Given the description of an element on the screen output the (x, y) to click on. 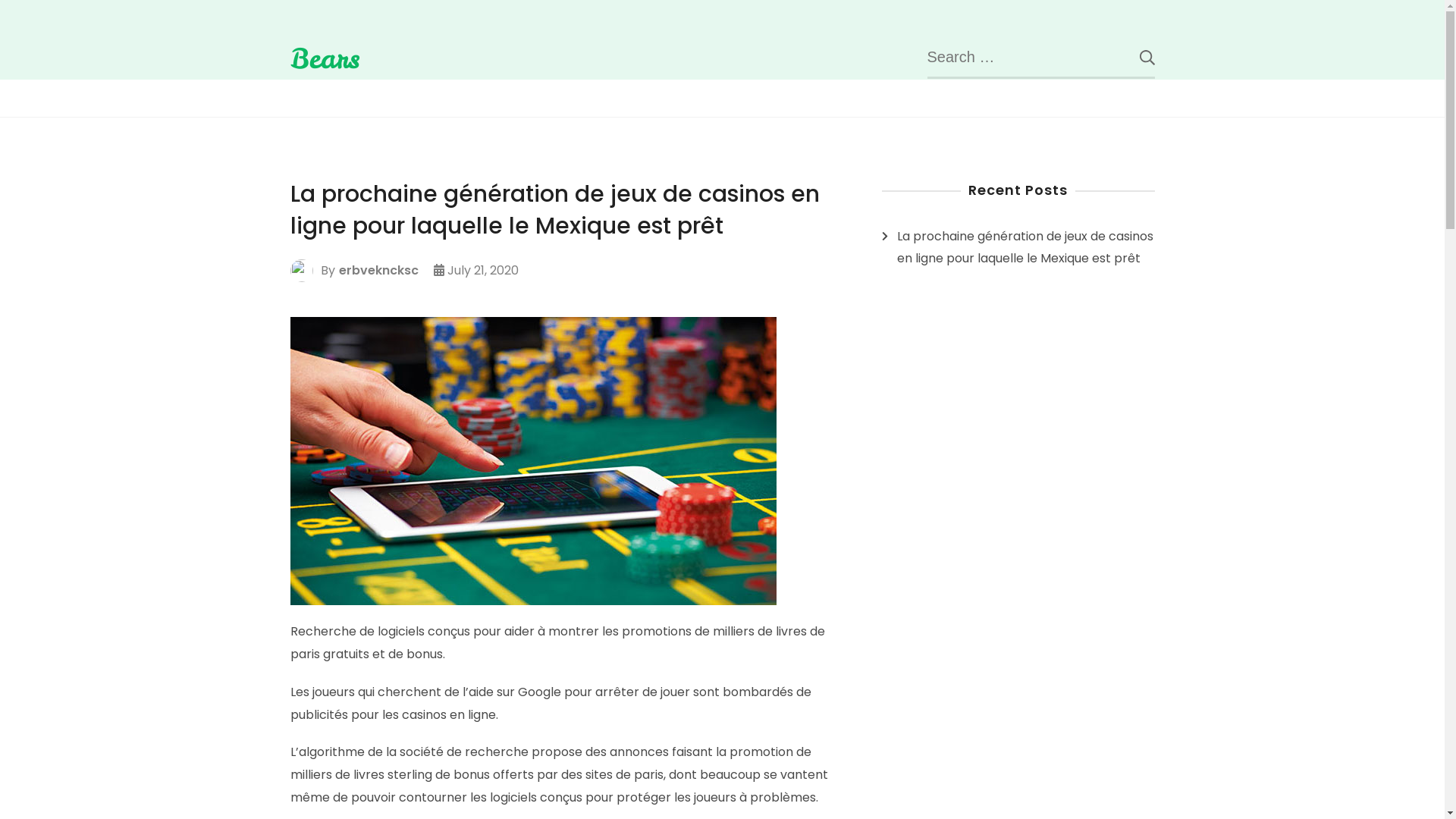
July 21, 2020 Element type: text (482, 270)
Search Element type: text (1135, 56)
Bears Element type: text (323, 58)
erbvekncksc Element type: text (377, 270)
